Given the description of an element on the screen output the (x, y) to click on. 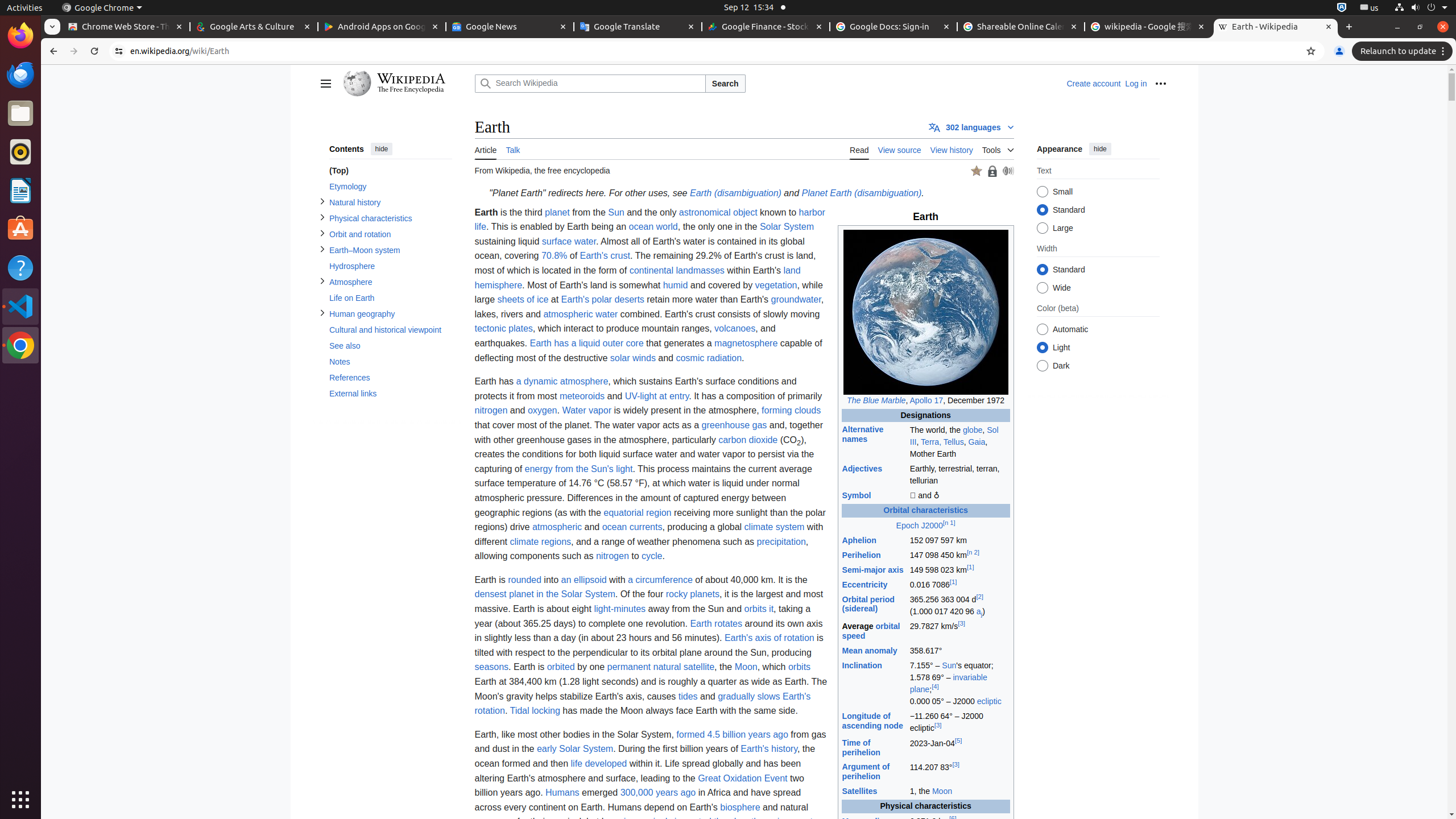
Earth rotates Element type: link (715, 623)
meteoroids Element type: link (582, 395)
atmospheric water Element type: link (580, 313)
cycle Element type: link (651, 556)
Main menu Element type: push-button (325, 83)
